Given the description of an element on the screen output the (x, y) to click on. 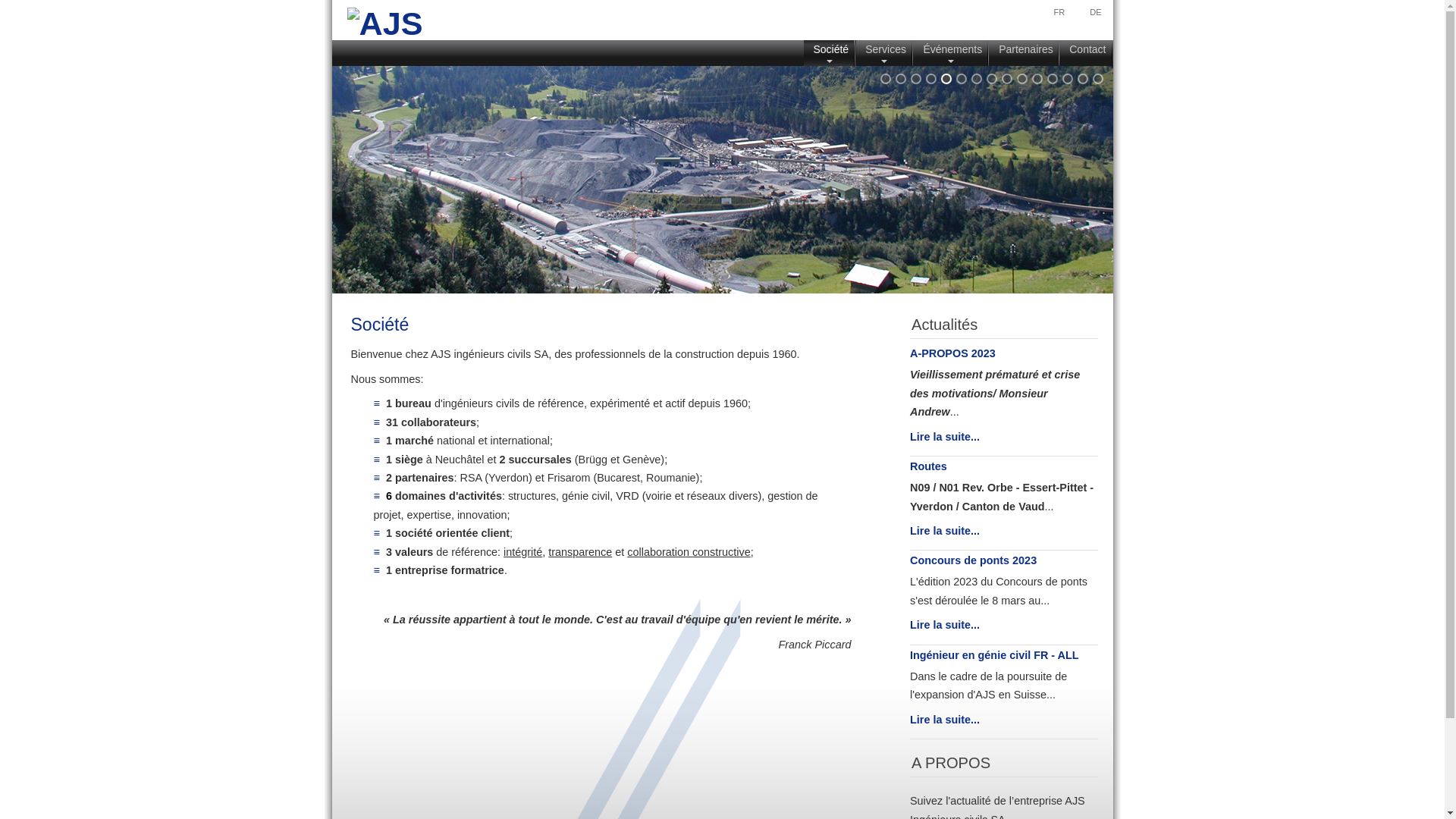
Lire la suite... Element type: text (944, 436)
A-PROPOS 2023 Element type: text (952, 353)
Services Element type: text (883, 52)
Lire la suite... Element type: text (944, 530)
Concours de ponts 2023 Element type: text (973, 560)
Routes Element type: text (928, 466)
Contact Element type: text (1085, 52)
DE Element type: text (1095, 12)
FR Element type: text (1059, 12)
Lire la suite... Element type: text (944, 624)
Lire la suite... Element type: text (944, 719)
Partenaires Element type: text (1024, 52)
